Given the description of an element on the screen output the (x, y) to click on. 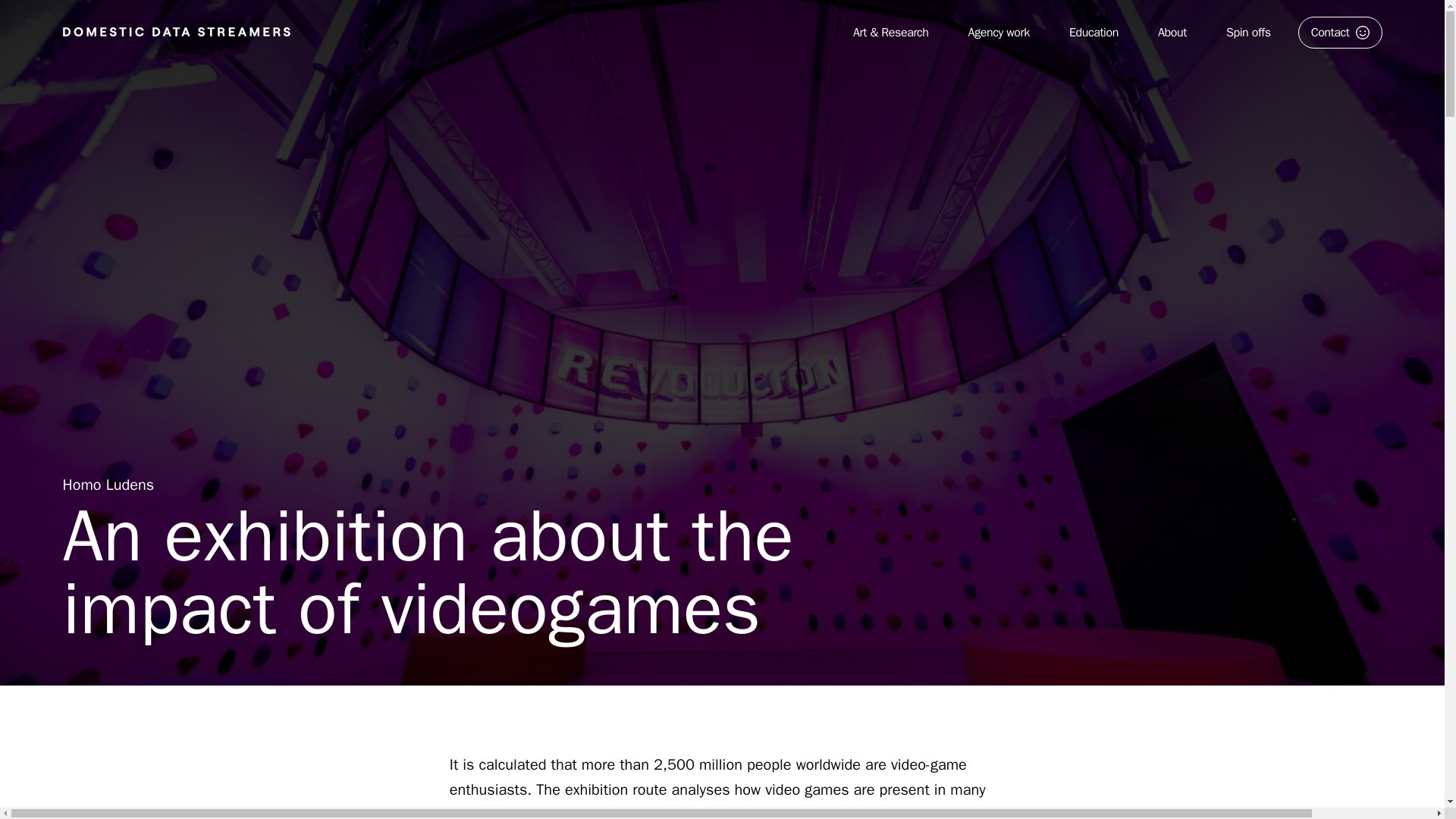
Contact (1339, 32)
Education (1094, 32)
Agency work (999, 32)
Spin offs (1248, 32)
Skip to content. (71, 31)
About (1171, 32)
